Given the description of an element on the screen output the (x, y) to click on. 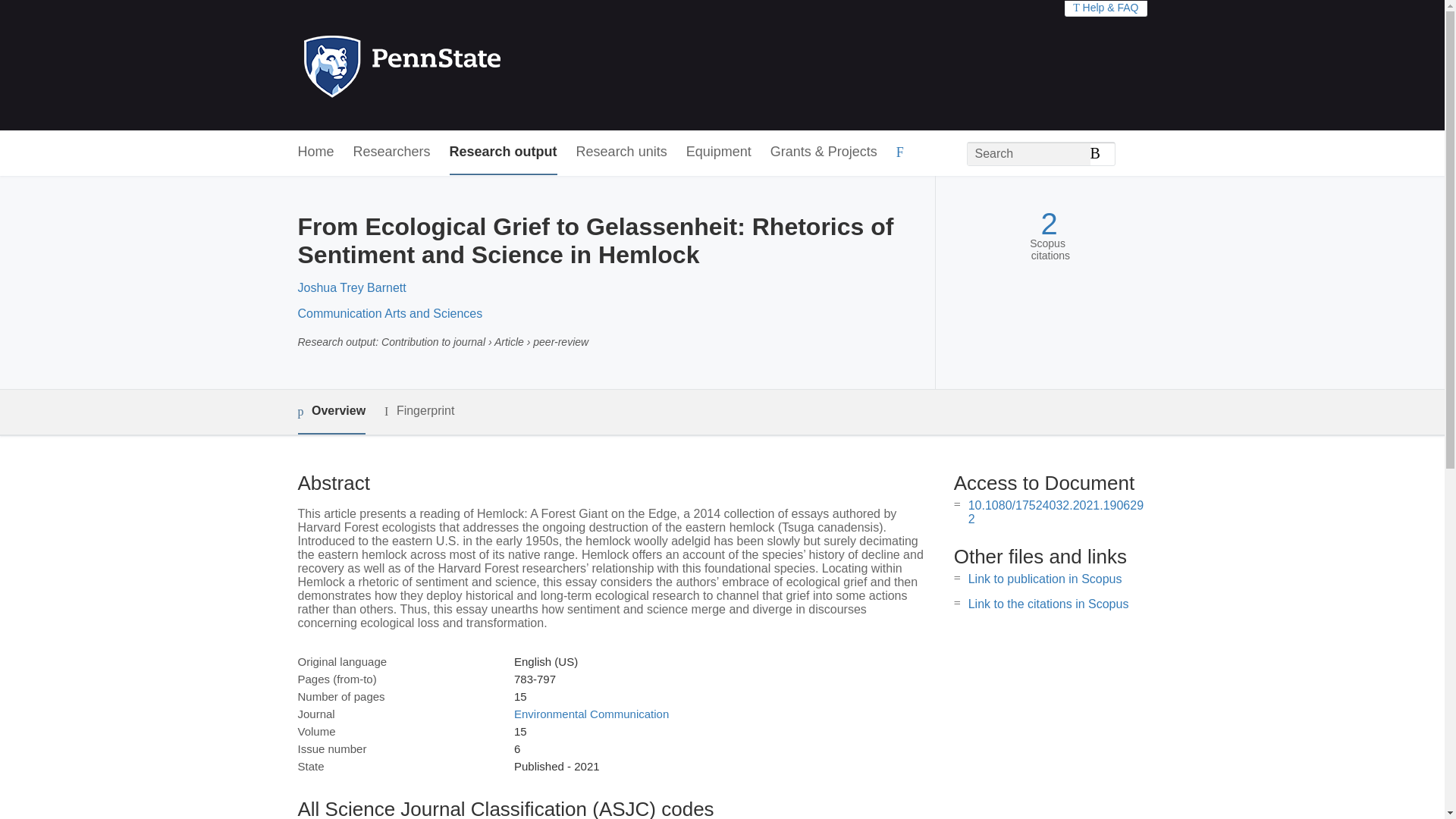
Research units (621, 152)
Overview (331, 411)
Link to publication in Scopus (1045, 578)
Fingerprint (419, 411)
Link to the citations in Scopus (1048, 603)
Communication Arts and Sciences (389, 313)
Environmental Communication (590, 713)
Joshua Trey Barnett (351, 287)
Penn State Home (467, 65)
Researchers (391, 152)
Equipment (718, 152)
Research output (503, 152)
